Given the description of an element on the screen output the (x, y) to click on. 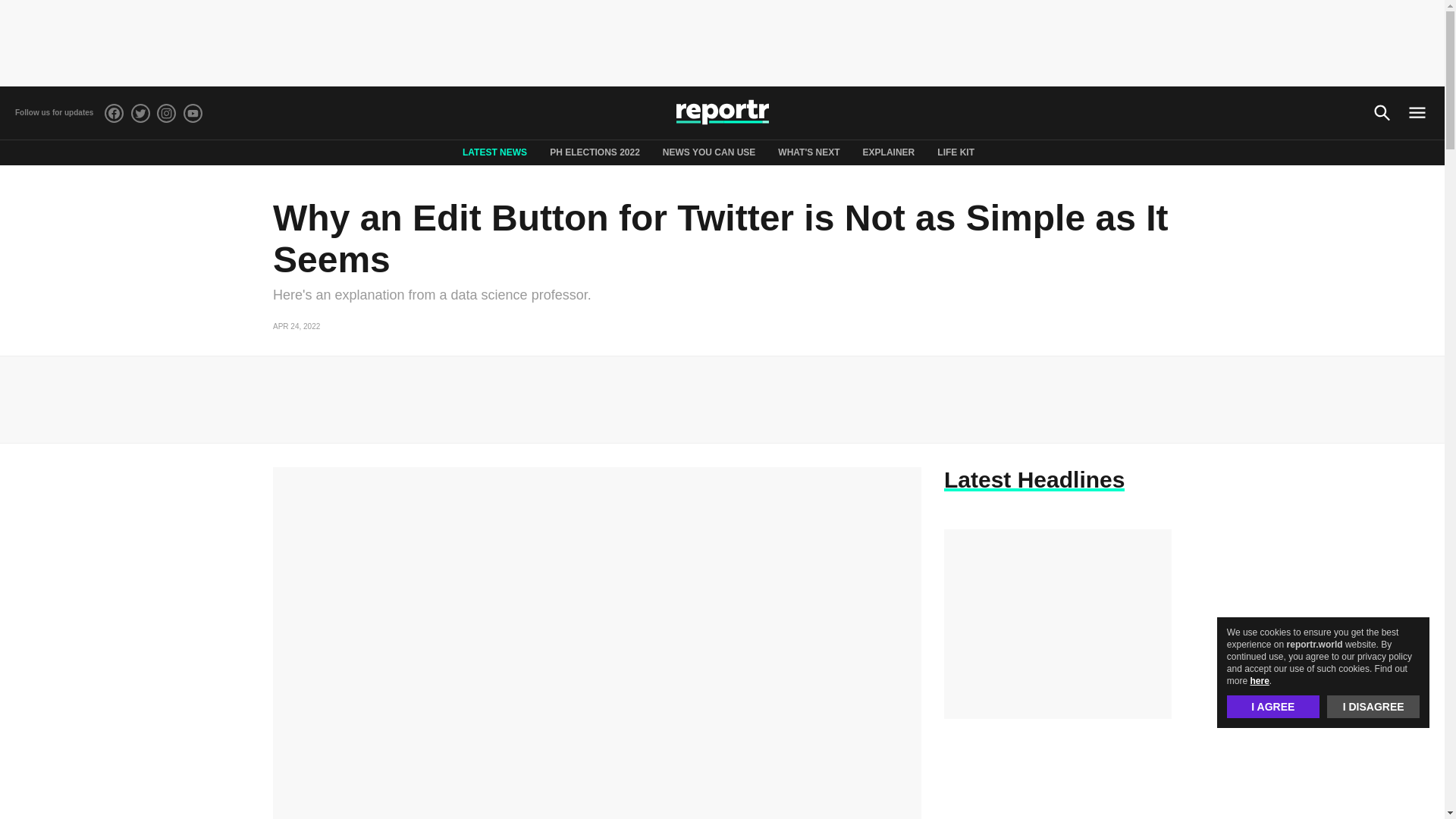
News you can use (708, 152)
LATEST NEWS (495, 152)
Follow us on Facebook (113, 112)
WHAT'S NEXT (808, 152)
LIFE KIT (955, 152)
What's Next (808, 152)
Follow us on Instagram (166, 112)
Reportr (722, 112)
Subscribe on Youtube (192, 112)
PH ELECTIONS 2022 (595, 152)
EXPLAINER (889, 152)
Latest News (495, 152)
NEWS YOU CAN USE (708, 152)
PH ELECTIONS 2022 (595, 152)
Explainer (889, 152)
